Given the description of an element on the screen output the (x, y) to click on. 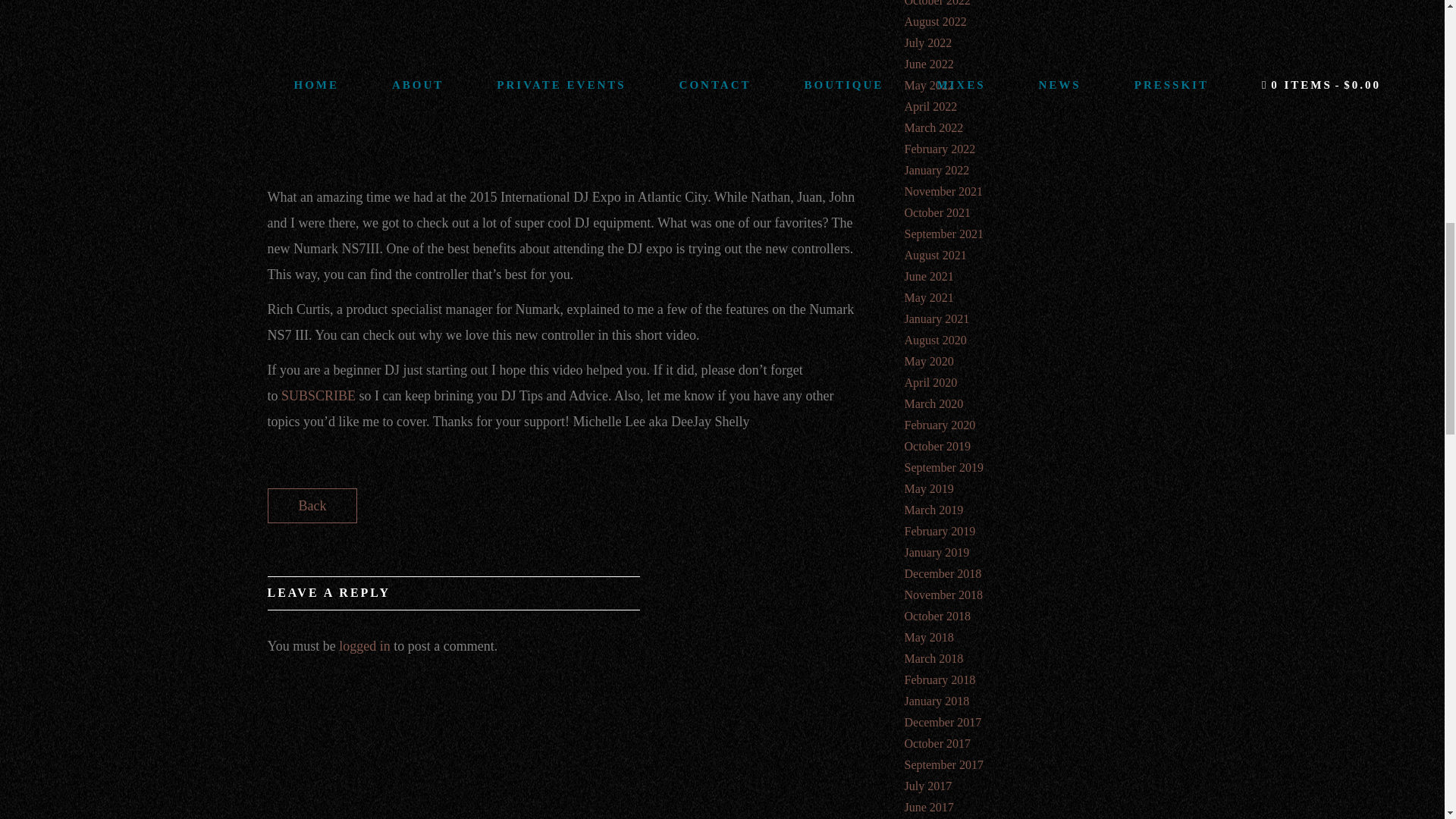
SUBSCRIBE (318, 395)
logged in (364, 645)
Back (311, 505)
